Given the description of an element on the screen output the (x, y) to click on. 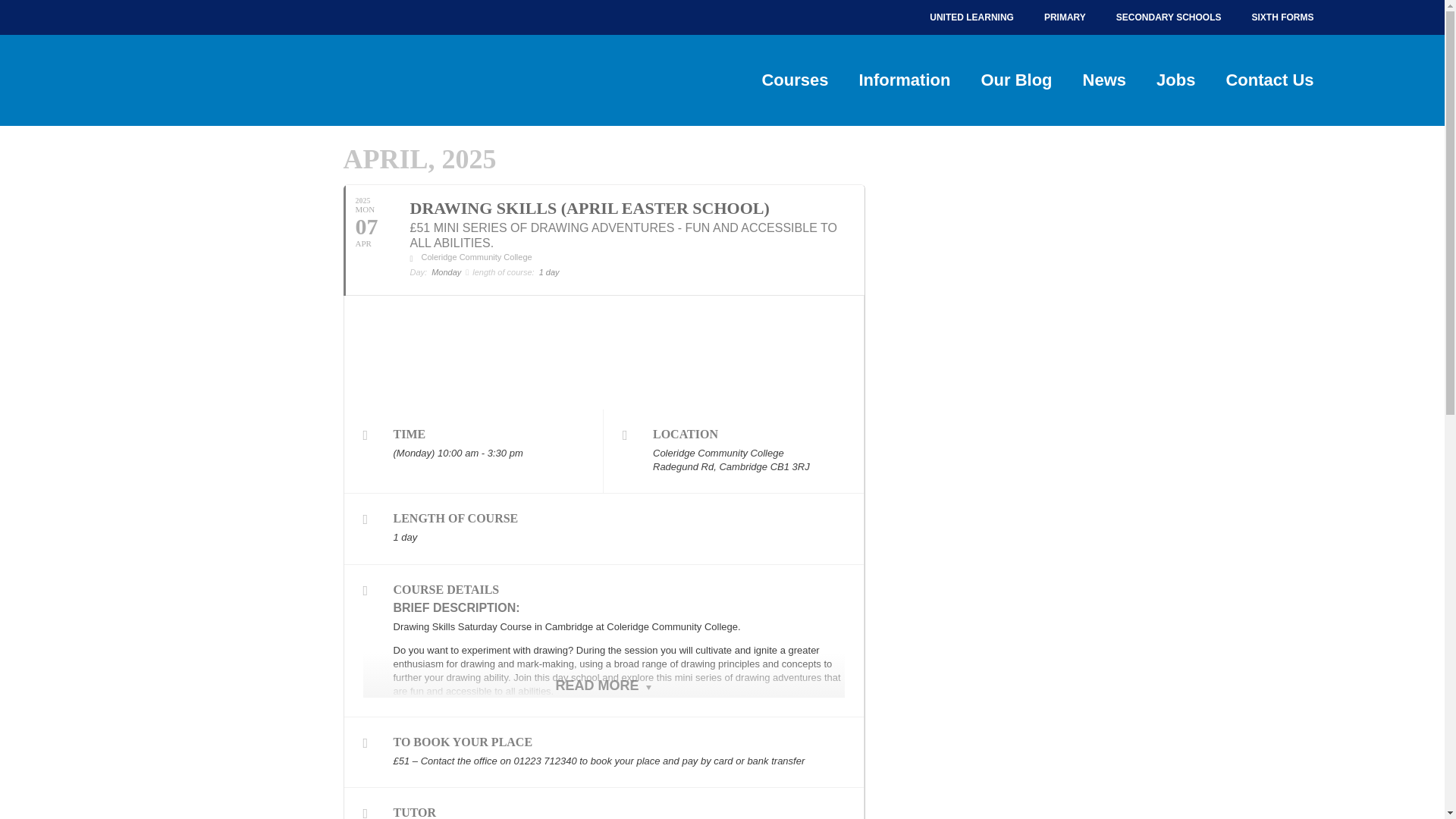
Jobs (1175, 80)
UNITED LEARNING (971, 17)
Courses (794, 80)
Information (904, 80)
News (1104, 80)
SIXTH FORMS (1281, 17)
PRIMARY (1064, 17)
Contact Us (1268, 80)
SECONDARY SCHOOLS (1168, 17)
Our Blog (1016, 80)
